Given the description of an element on the screen output the (x, y) to click on. 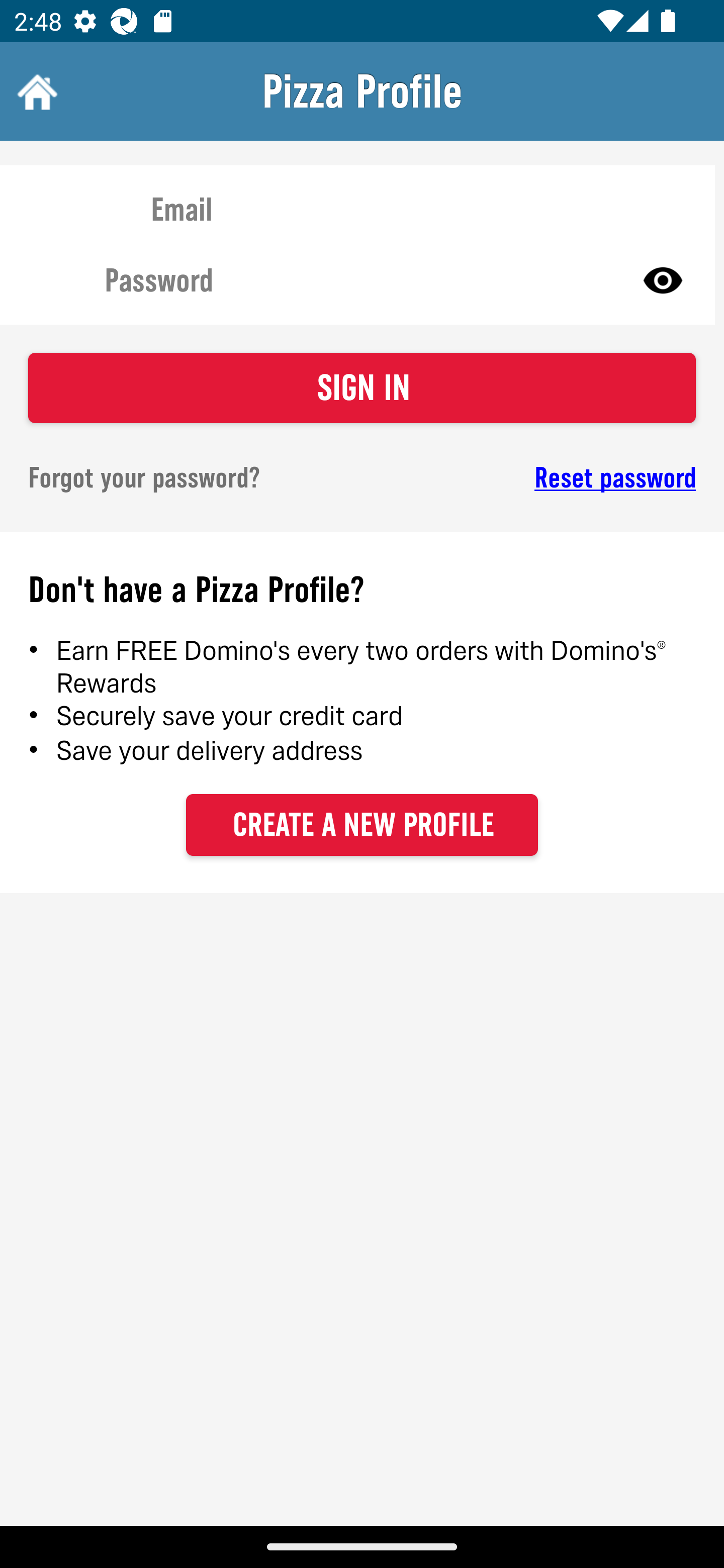
Home (35, 91)
Show Password (663, 279)
SIGN IN (361, 387)
Reset password (545, 477)
CREATE A NEW PROFILE (361, 824)
